Given the description of an element on the screen output the (x, y) to click on. 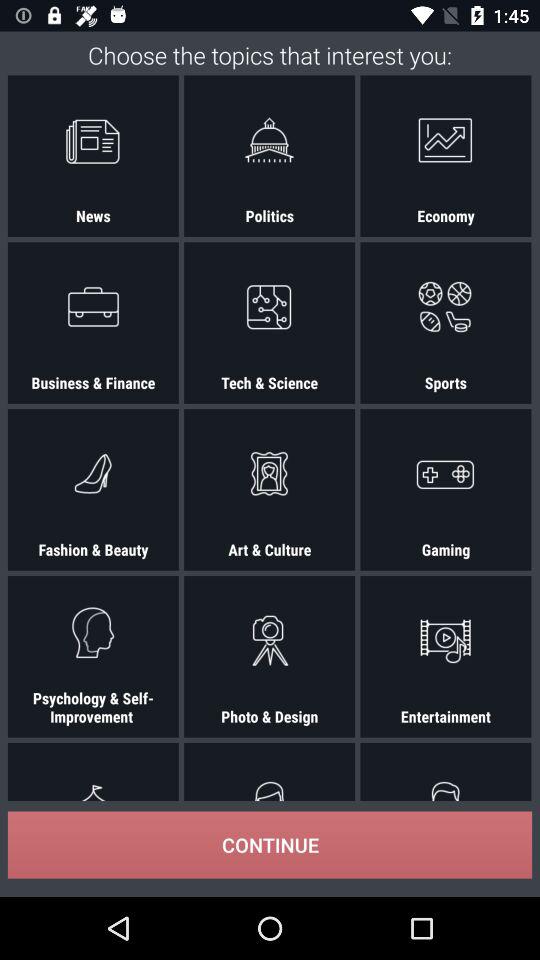
launch the continue (269, 844)
